Given the description of an element on the screen output the (x, y) to click on. 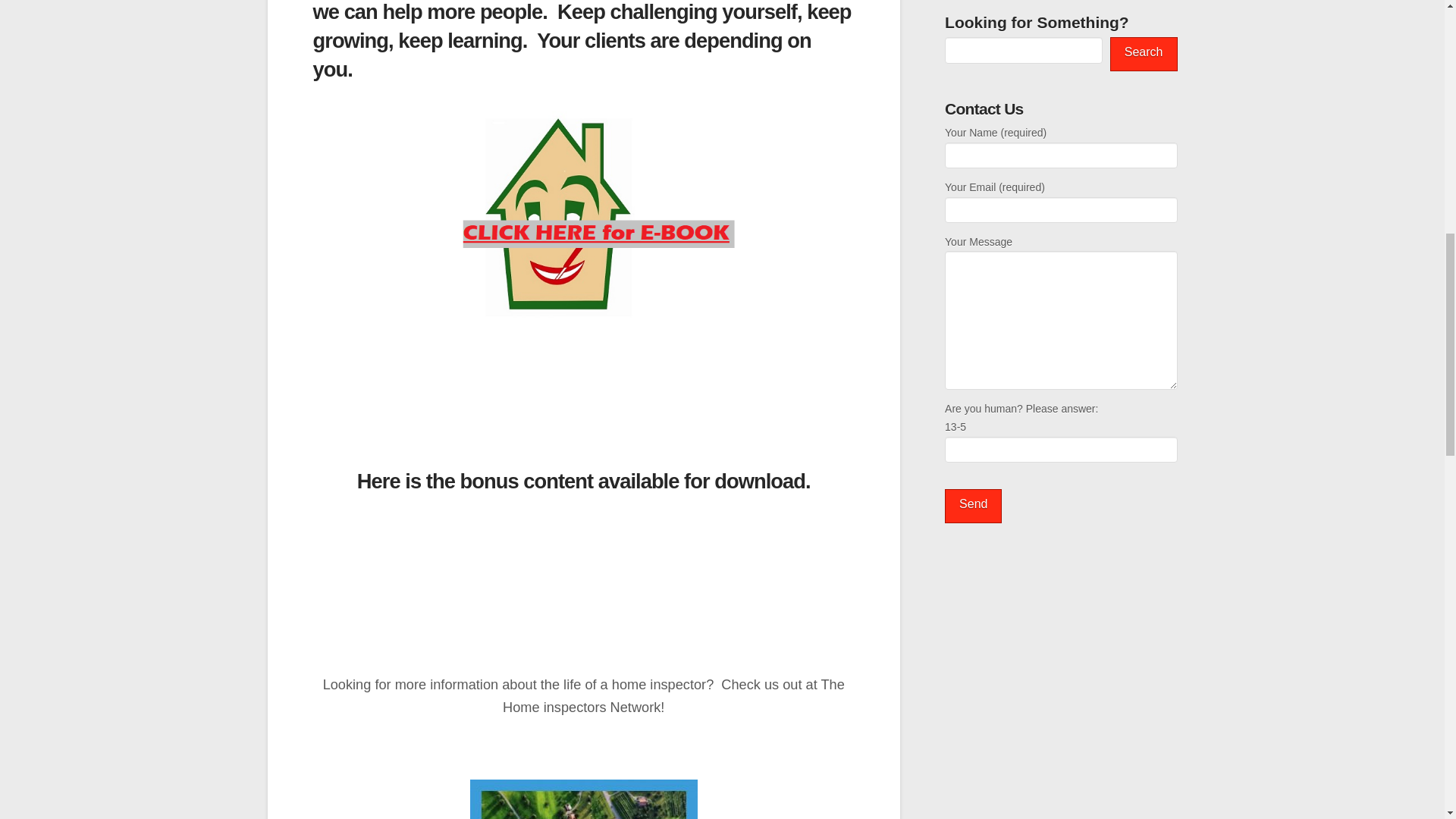
Send (972, 505)
Search (1143, 53)
Send (972, 505)
Here is the bonus content available for download. (583, 481)
